Given the description of an element on the screen output the (x, y) to click on. 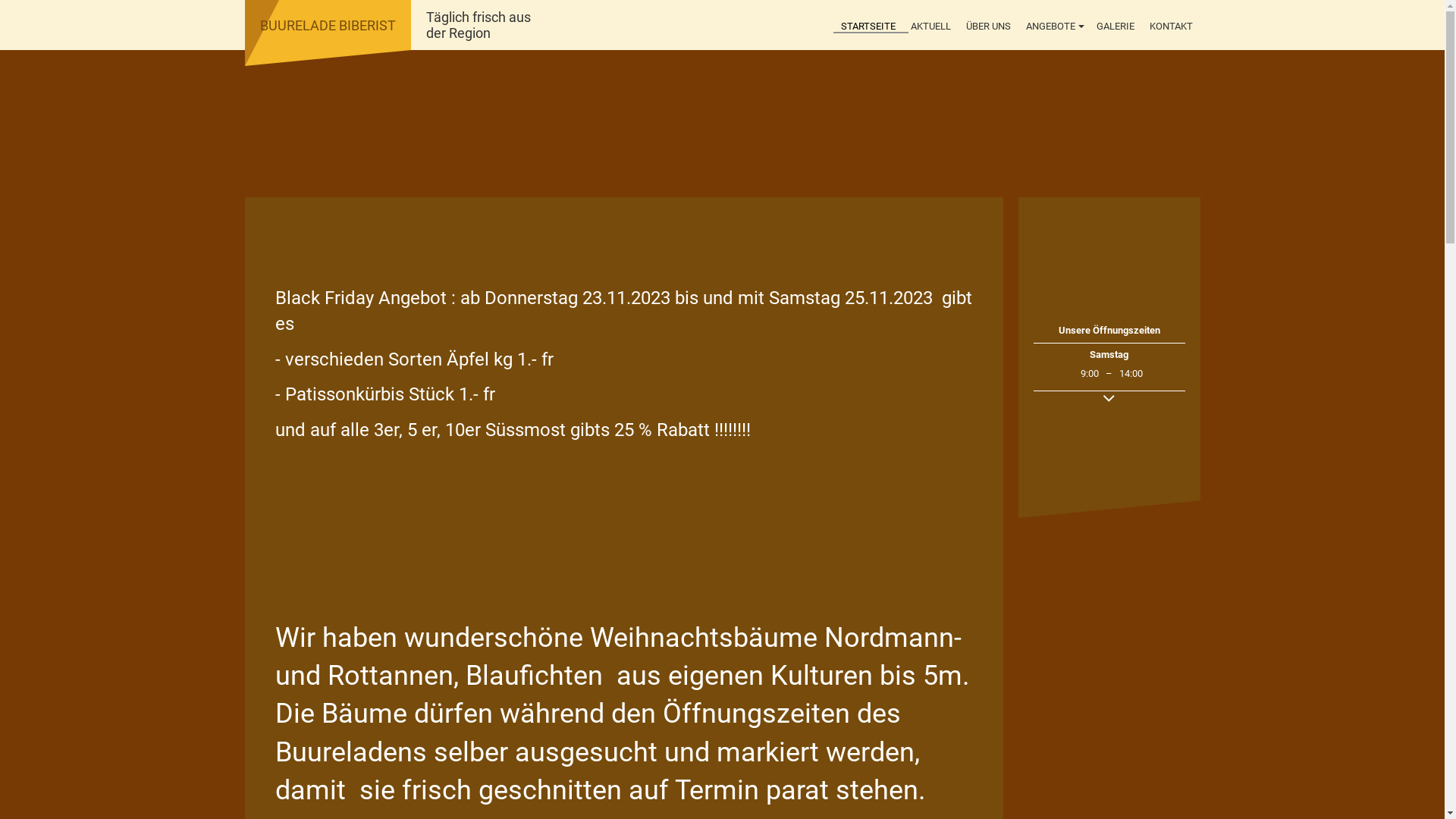
GALERIE Element type: text (1115, 26)
  Element type: text (721, 123)
ANGEBOTE Element type: text (1052, 26)
AKTUELL Element type: text (929, 26)
KONTAKT Element type: text (1171, 26)
STARTSEITE Element type: text (867, 26)
